Given the description of an element on the screen output the (x, y) to click on. 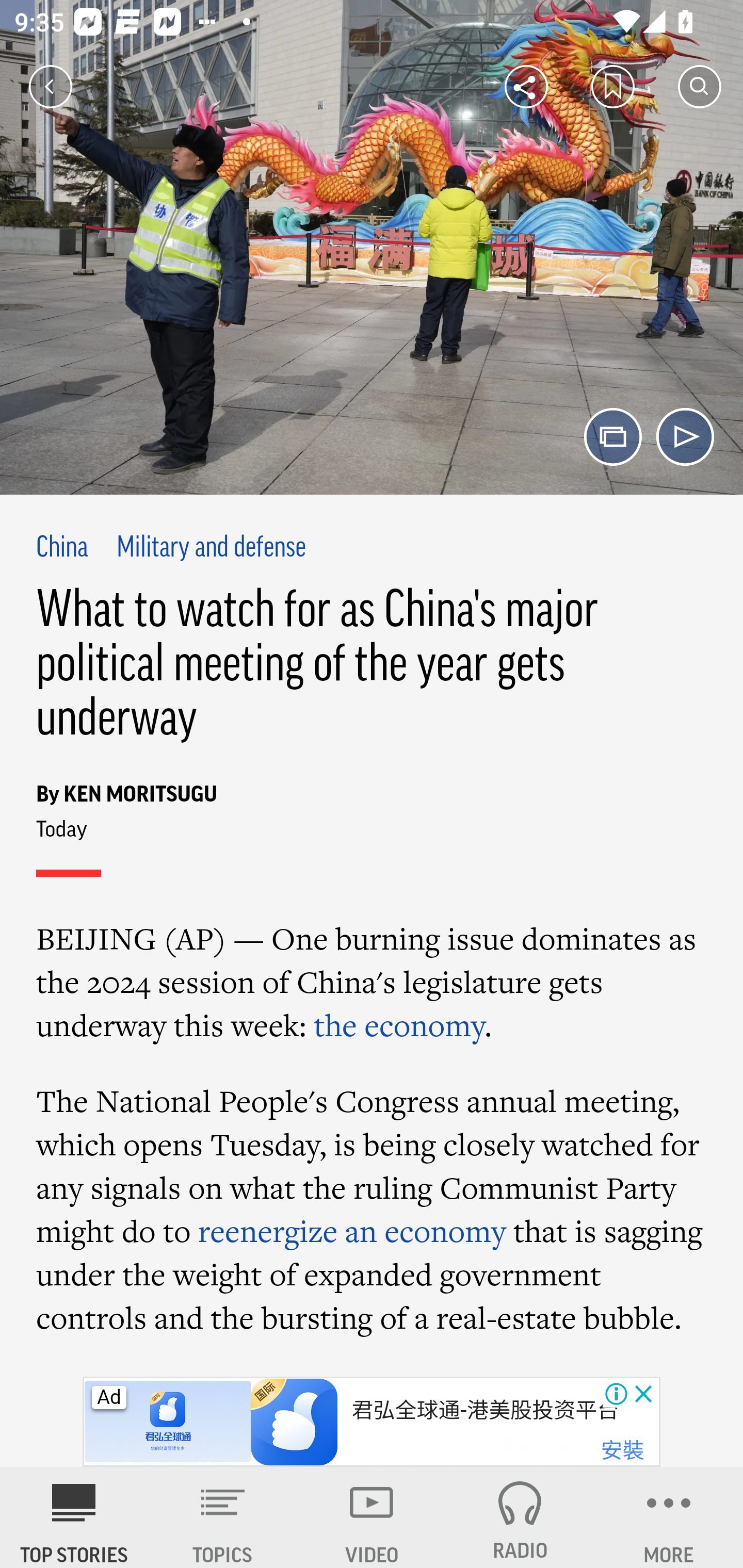
China (62, 548)
Military and defense (210, 548)
the economy (398, 1025)
reenergize an economy (351, 1230)
B29897659 (168, 1421)
君弘全球通-港美股投资平台 (484, 1410)
安裝 (621, 1450)
AP News TOP STORIES (74, 1517)
TOPICS (222, 1517)
VIDEO (371, 1517)
RADIO (519, 1517)
MORE (668, 1517)
